Given the description of an element on the screen output the (x, y) to click on. 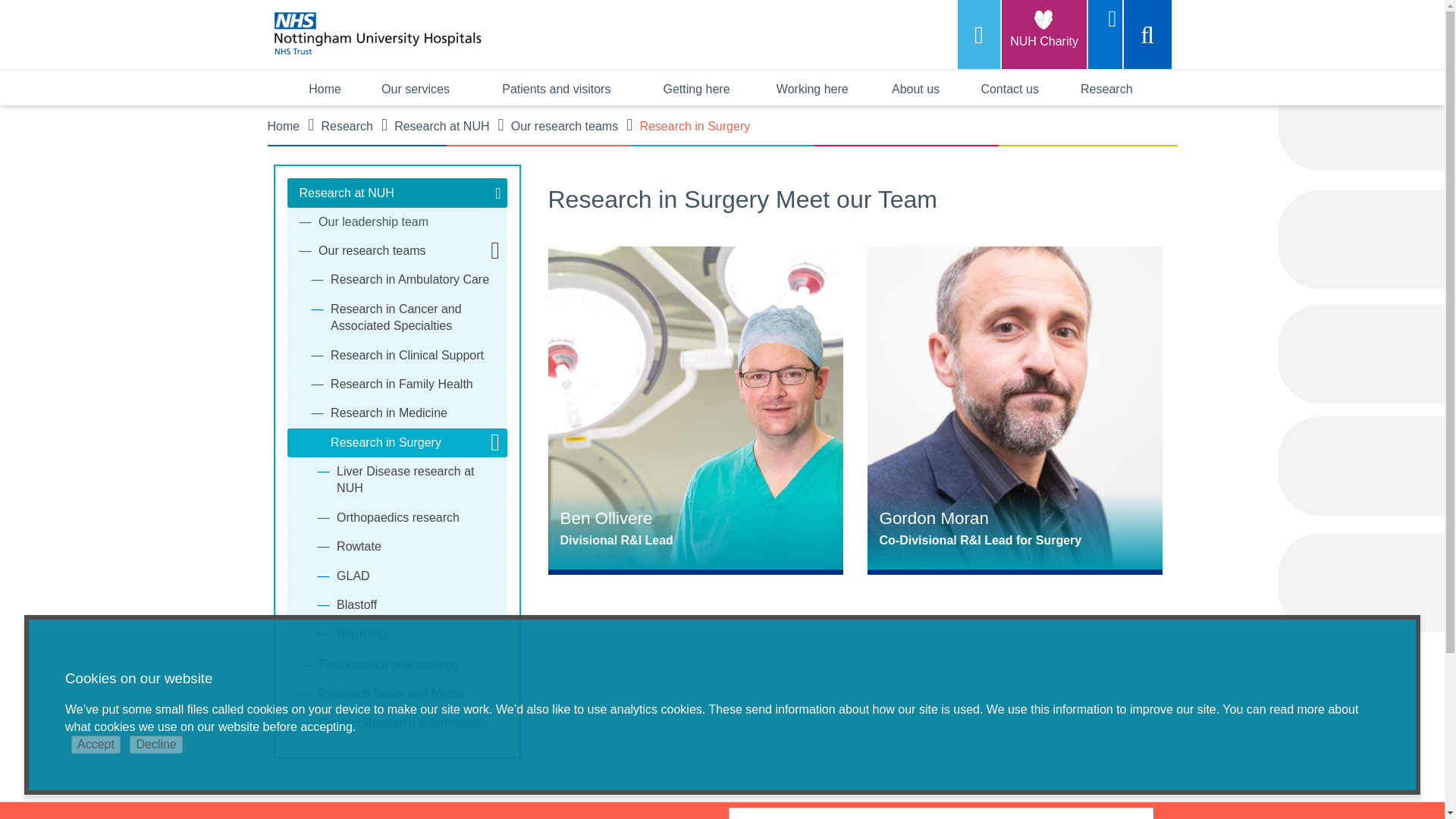
NUH Charity (1043, 34)
Accept (95, 744)
Our services (415, 87)
Decline (155, 744)
Home (324, 87)
Patients and visitors (555, 87)
